Given the description of an element on the screen output the (x, y) to click on. 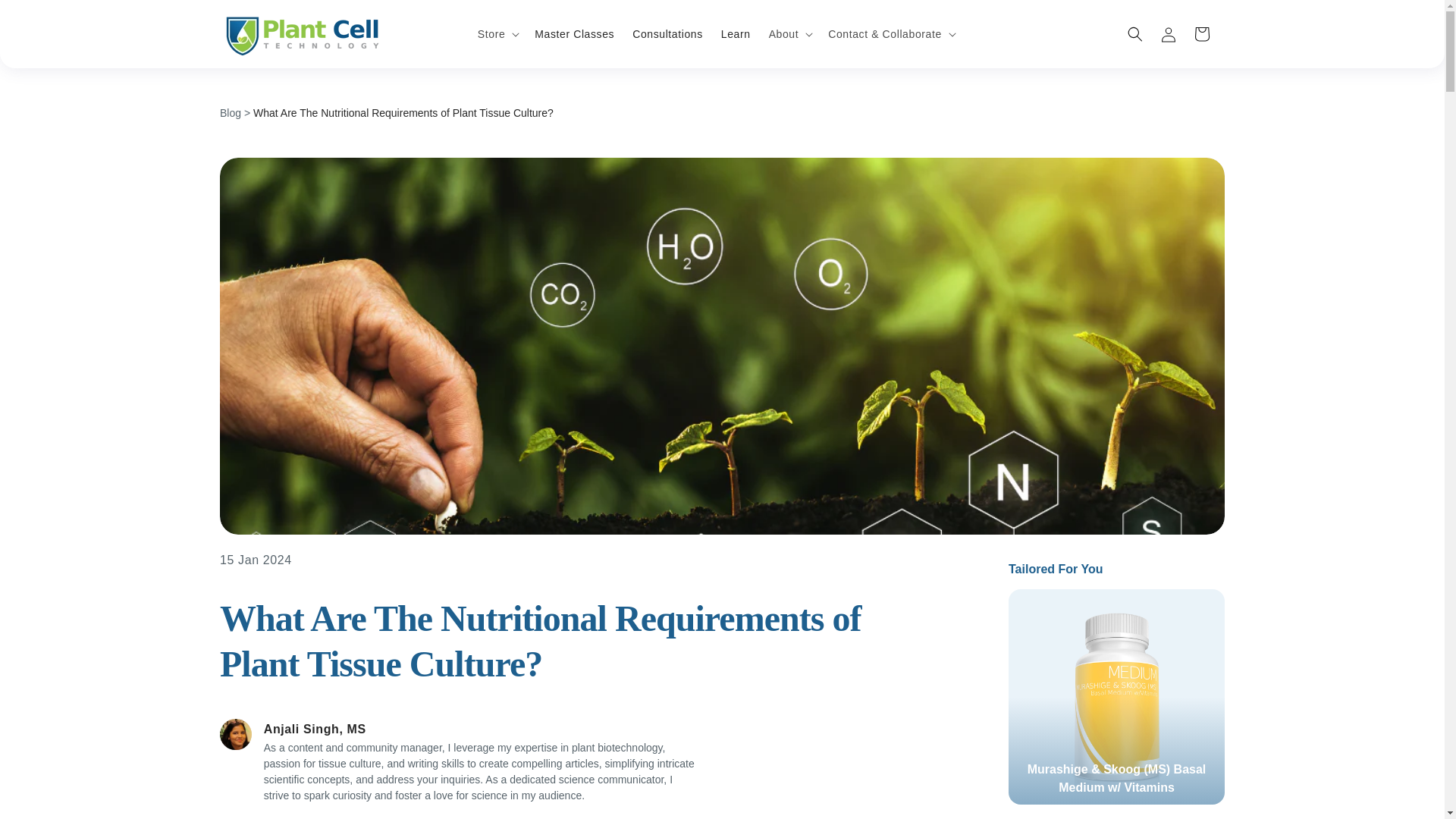
Master Classes (574, 33)
Consultations (667, 33)
Skip to content (45, 17)
Learn (735, 33)
